Given the description of an element on the screen output the (x, y) to click on. 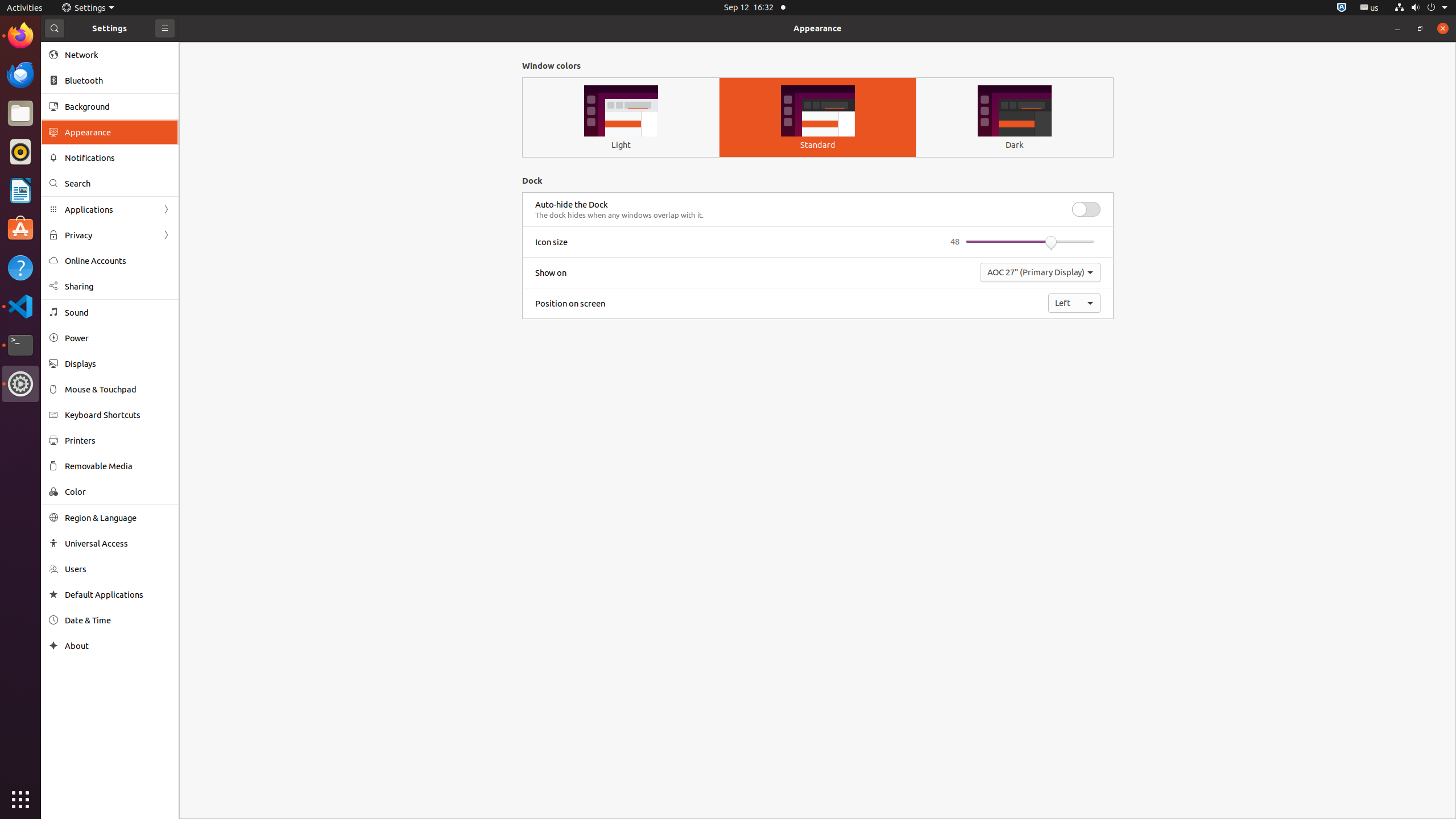
Dark Element type: label (1014, 144)
Settings Element type: menu (87, 7)
Trash Element type: label (75, 108)
Dock Element type: label (817, 180)
Bluetooth Element type: label (117, 80)
